Given the description of an element on the screen output the (x, y) to click on. 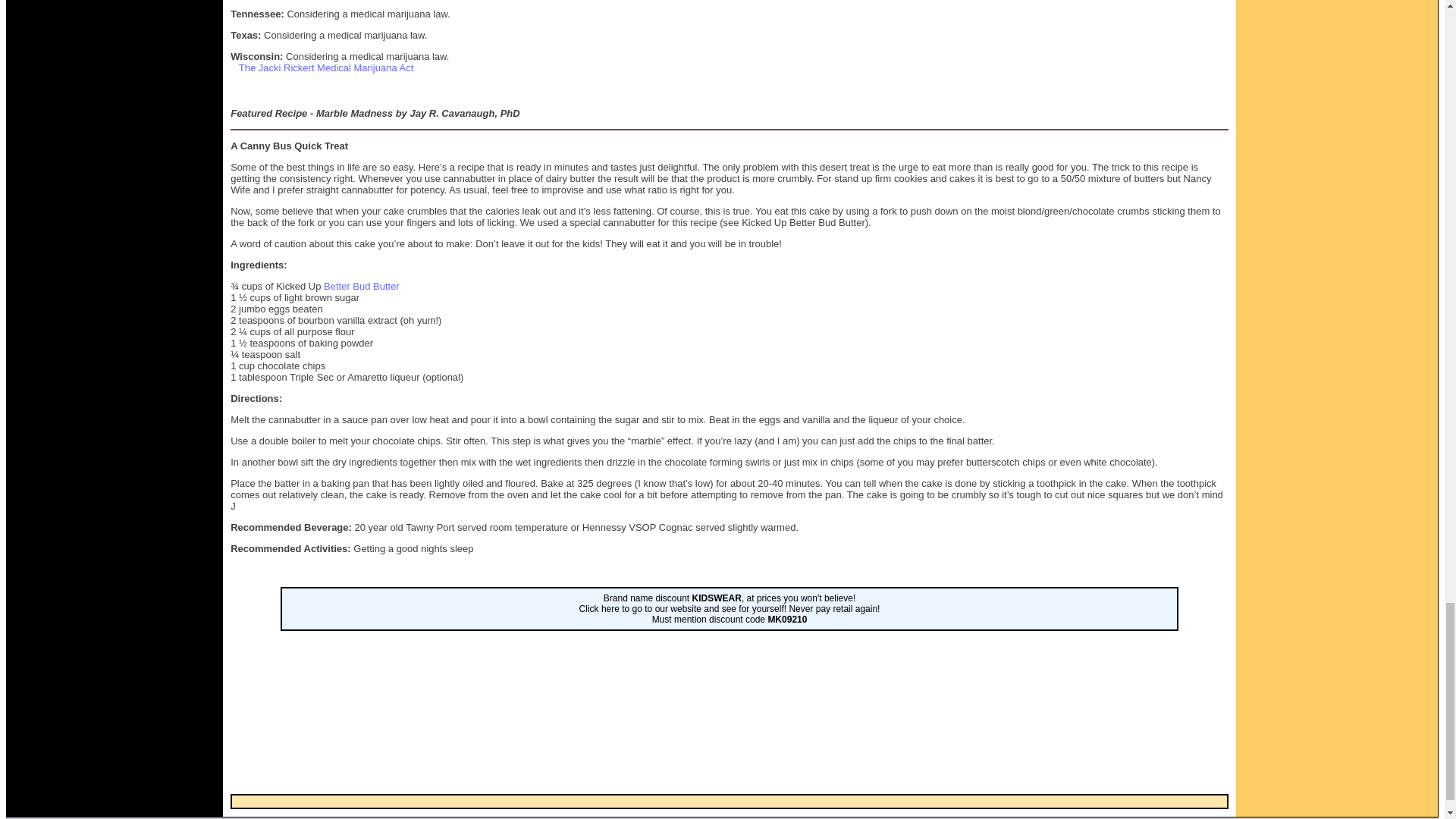
Click here to go to MagicKids Online Store (729, 608)
Better Bud Butter (360, 285)
The Jacki Rickert Medical Marijuana Act (325, 67)
